Given the description of an element on the screen output the (x, y) to click on. 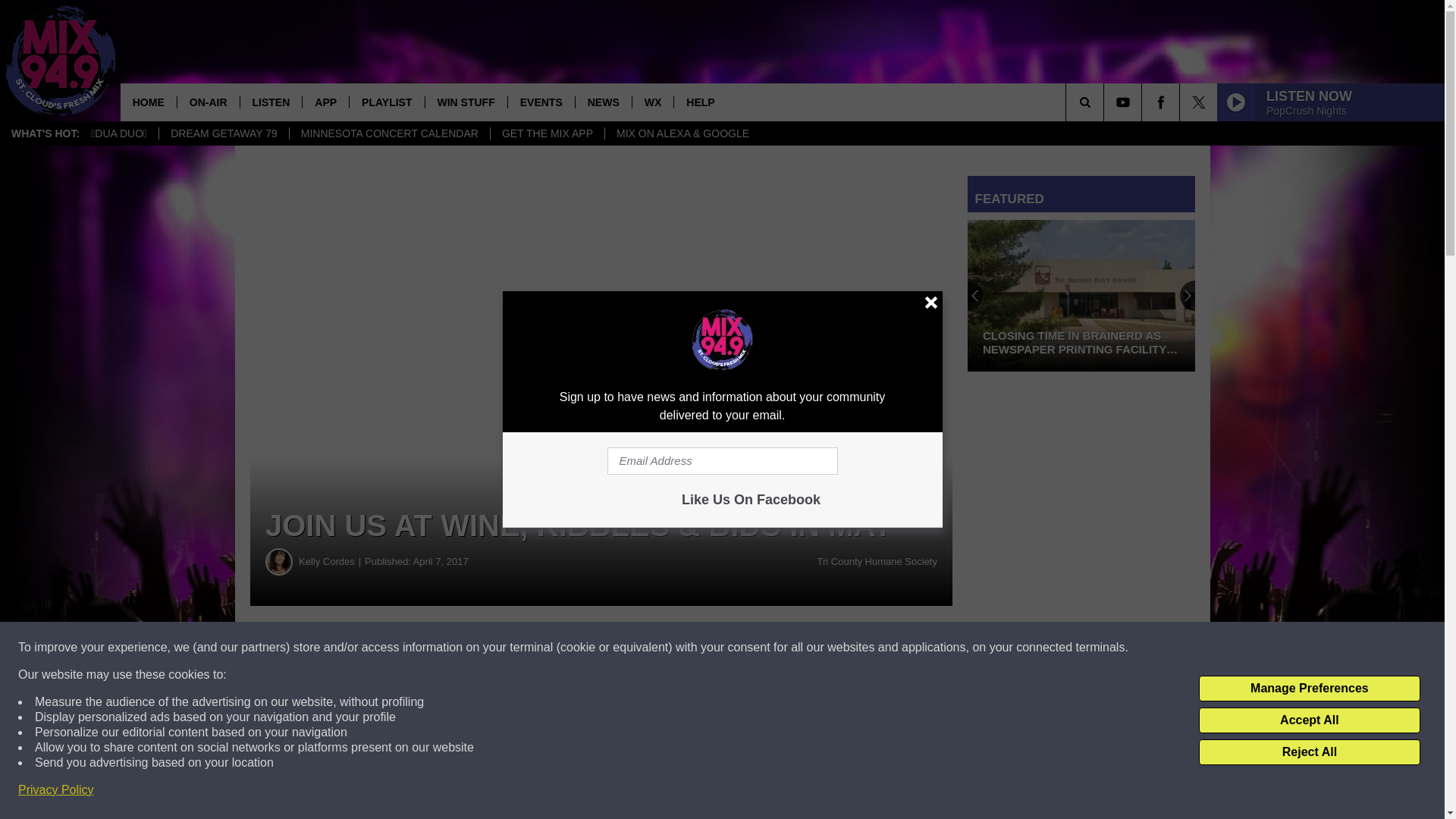
Accept All (1309, 720)
SEARCH (1106, 102)
LISTEN (271, 102)
EVENTS (540, 102)
HOME (148, 102)
GET THE MIX APP (546, 133)
Reject All (1309, 751)
WIN STUFF (465, 102)
DREAM GETAWAY 79 (223, 133)
Manage Preferences (1309, 688)
SEARCH (1106, 102)
Share on Twitter (741, 647)
APP (325, 102)
Email Address (722, 461)
MINNESOTA CONCERT CALENDAR (388, 133)
